Given the description of an element on the screen output the (x, y) to click on. 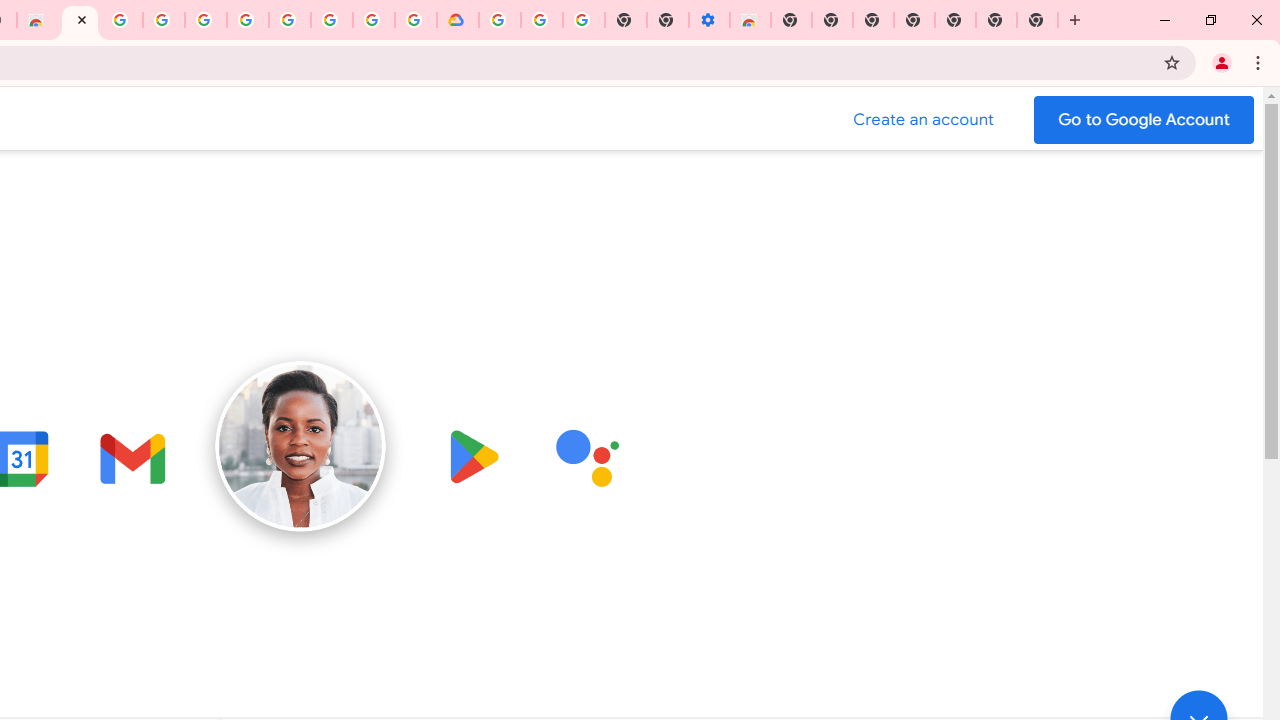
Create a Google Account (923, 119)
Ad Settings (164, 20)
Sign in - Google Accounts (205, 20)
Sign in - Google Accounts (374, 20)
New Tab (1037, 20)
Turn cookies on or off - Computer - Google Account Help (584, 20)
Chrome Web Store - Household (37, 20)
New Tab (790, 20)
